Given the description of an element on the screen output the (x, y) to click on. 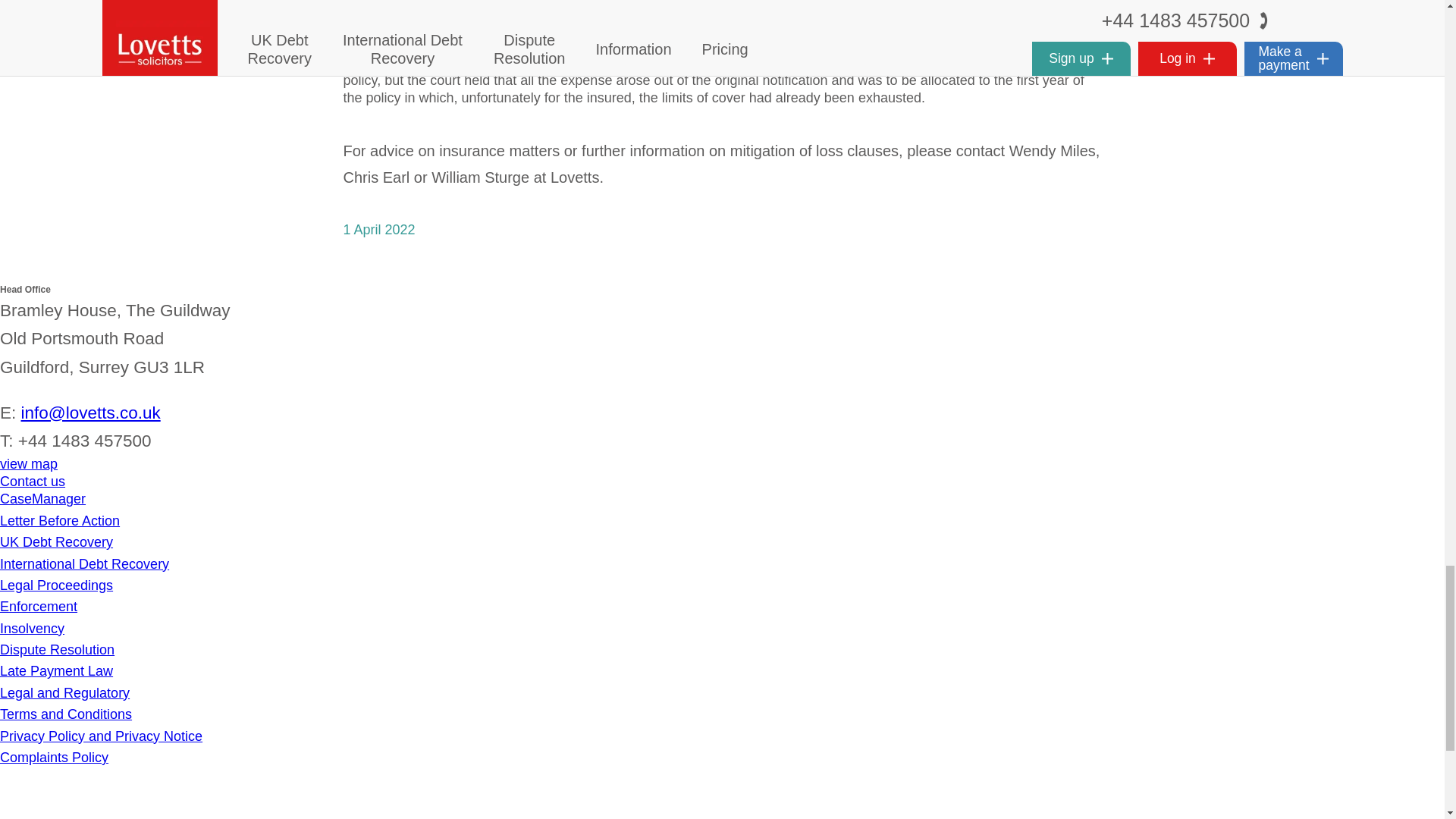
Dispute Resolution (57, 649)
view map (29, 463)
Legal and Regulatory (64, 693)
Late Payment Law (56, 670)
International Debt Recovery (84, 563)
CaseManager (42, 498)
Contact us (32, 481)
Enforcement (38, 606)
Insolvency (32, 628)
Legal Proceedings (56, 585)
